Given the description of an element on the screen output the (x, y) to click on. 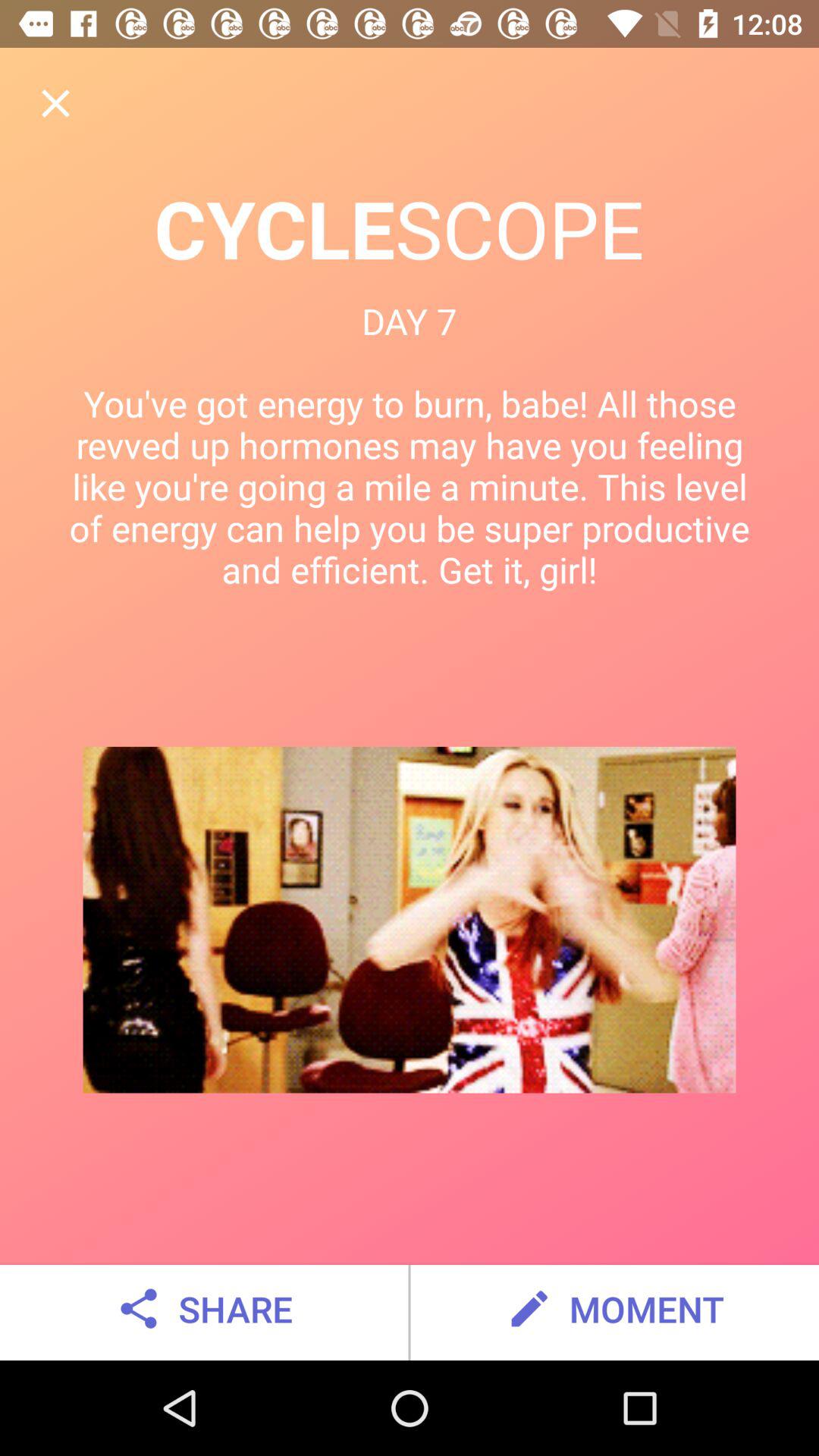
screen closing button (55, 103)
